Given the description of an element on the screen output the (x, y) to click on. 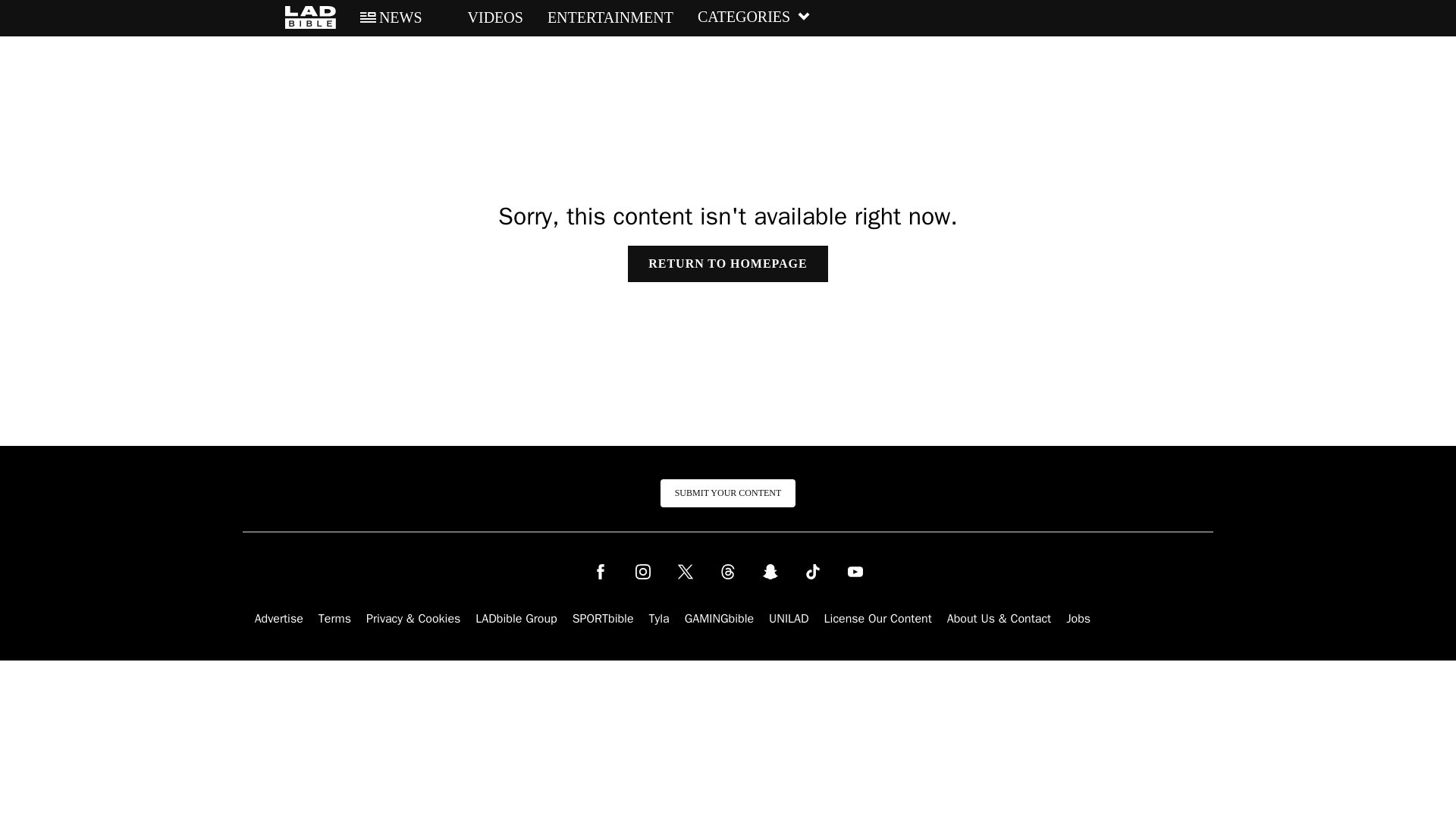
VIDEOS (484, 17)
Advertise (278, 618)
RETURN TO HOMEPAGE (727, 263)
CATEGORIES (753, 17)
NEWS (390, 17)
ENTERTAINMENT (609, 17)
